Given the description of an element on the screen output the (x, y) to click on. 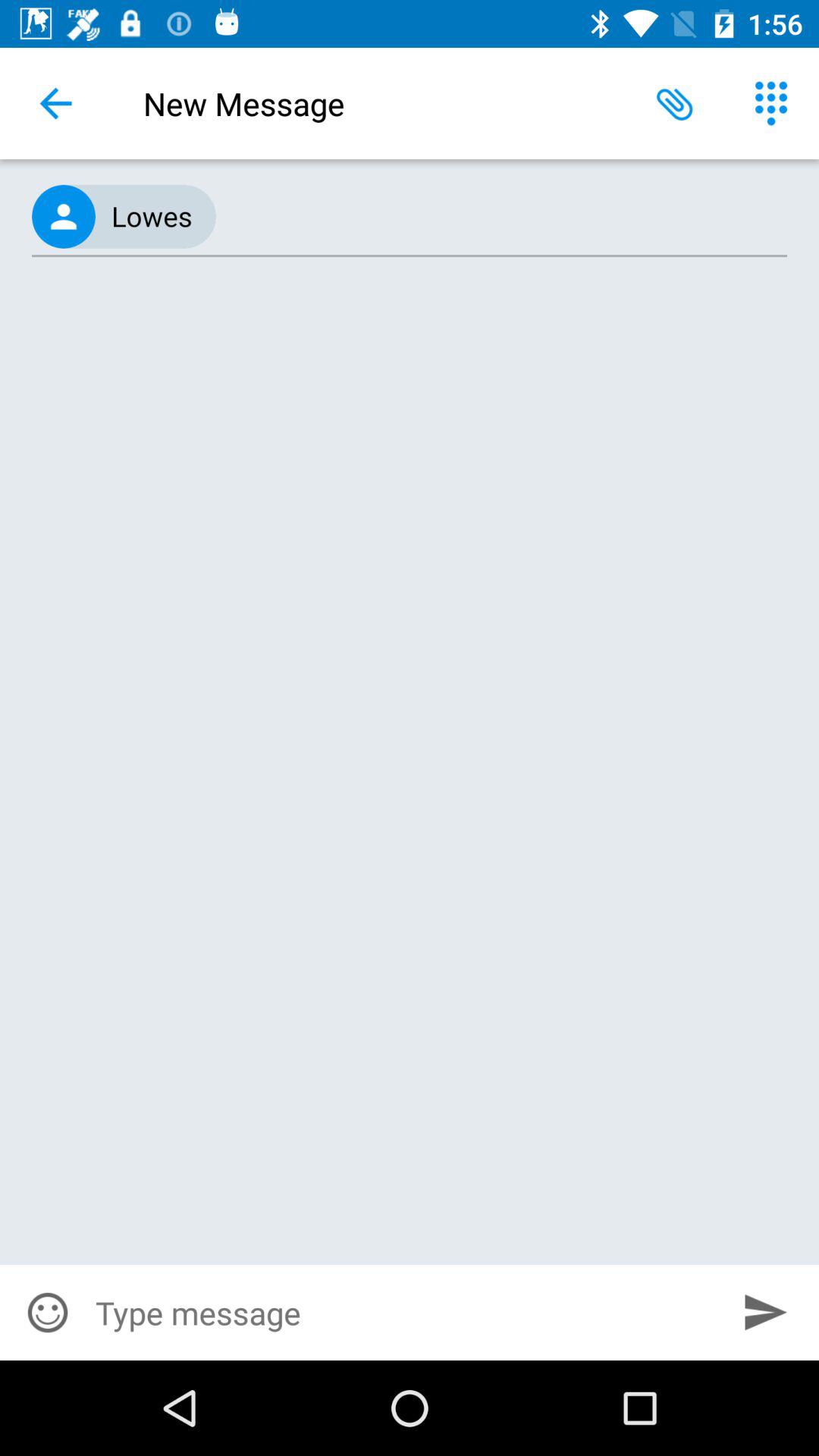
turn off the item to the right of new message item (675, 103)
